Given the description of an element on the screen output the (x, y) to click on. 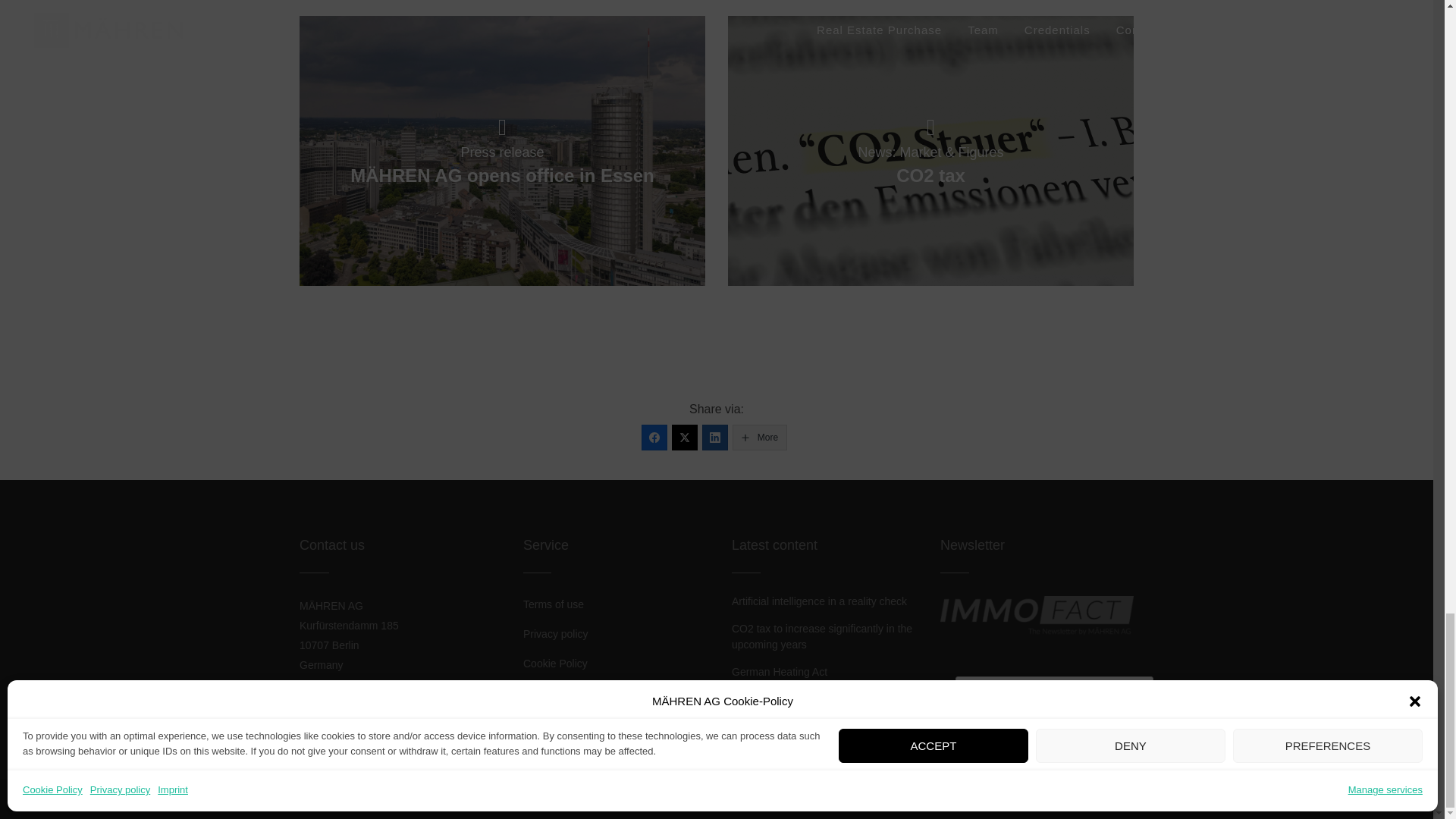
CO2 tax (931, 150)
